Given the description of an element on the screen output the (x, y) to click on. 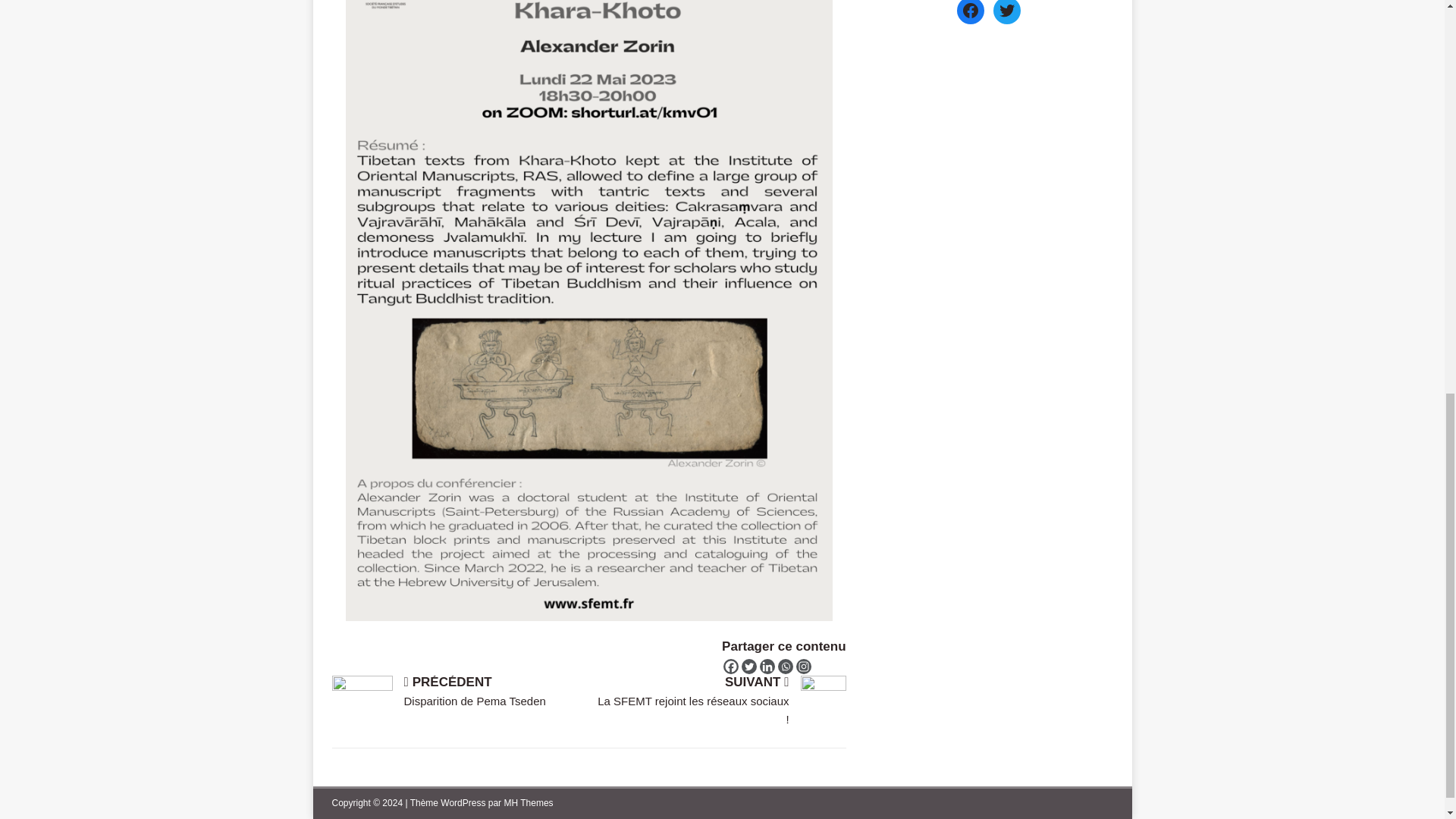
Linkedin (767, 666)
Instagram (803, 666)
Twitter (749, 666)
Whatsapp (785, 666)
Facebook (730, 666)
